Given the description of an element on the screen output the (x, y) to click on. 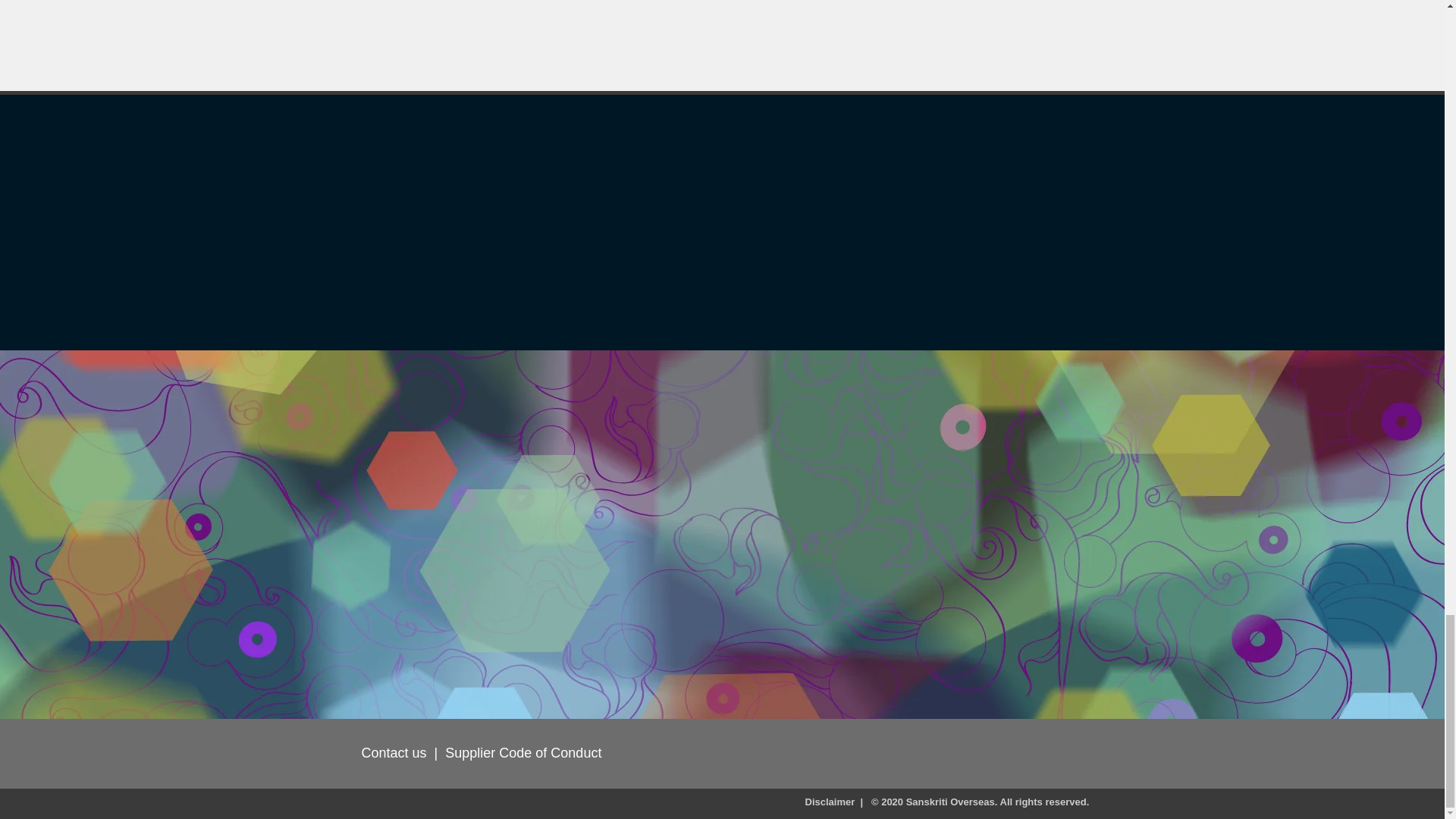
Supplier Code of Conduct (523, 752)
Disclaimer (830, 801)
Contact us (393, 752)
